Given the description of an element on the screen output the (x, y) to click on. 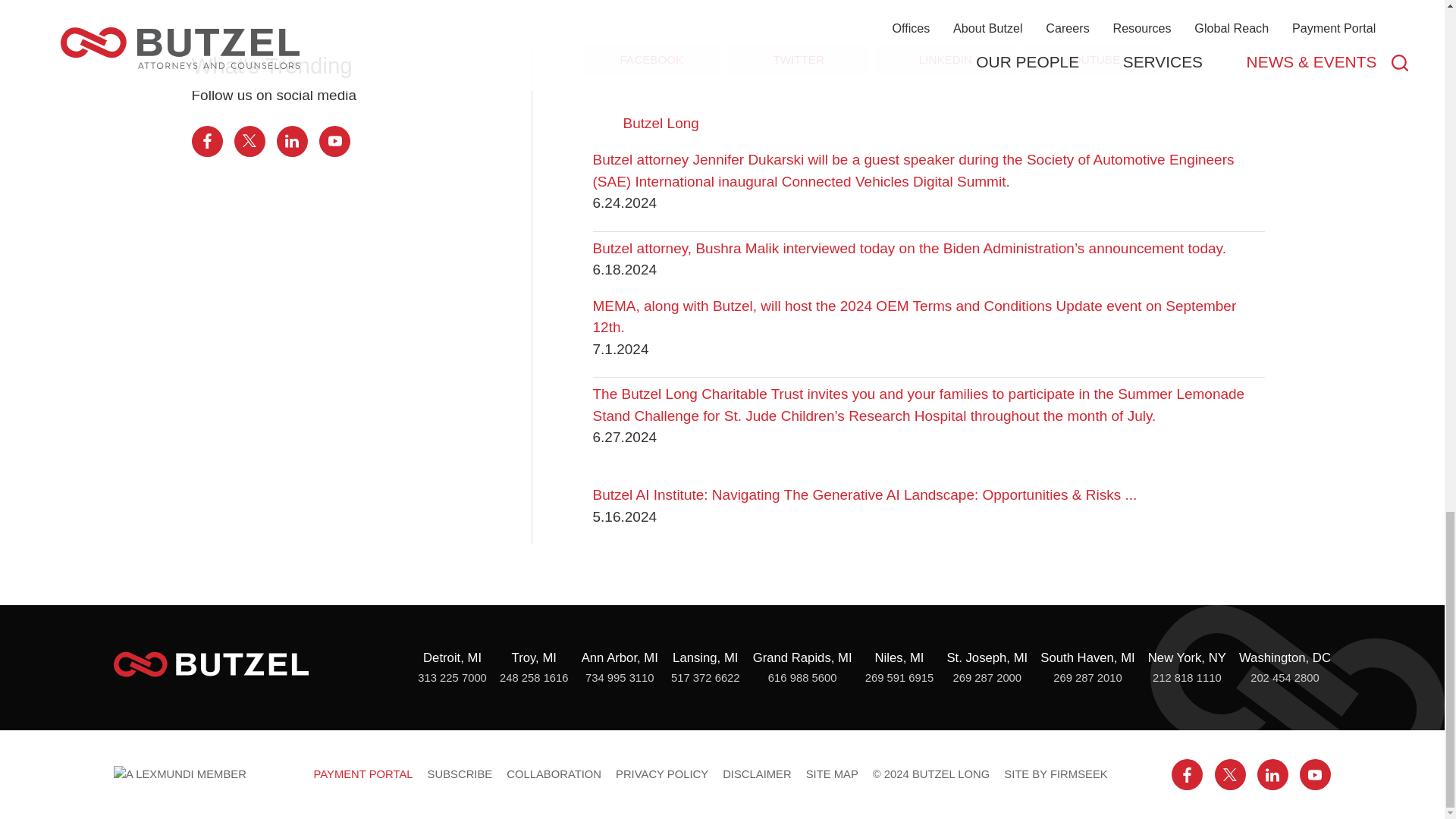
LinkedIn (1272, 774)
Butzel Long (210, 664)
Facebook (1187, 774)
X (1230, 774)
LinkedIn (291, 141)
X (249, 141)
YouTube (334, 141)
Facebook (206, 141)
YouTube (1315, 774)
